Given the description of an element on the screen output the (x, y) to click on. 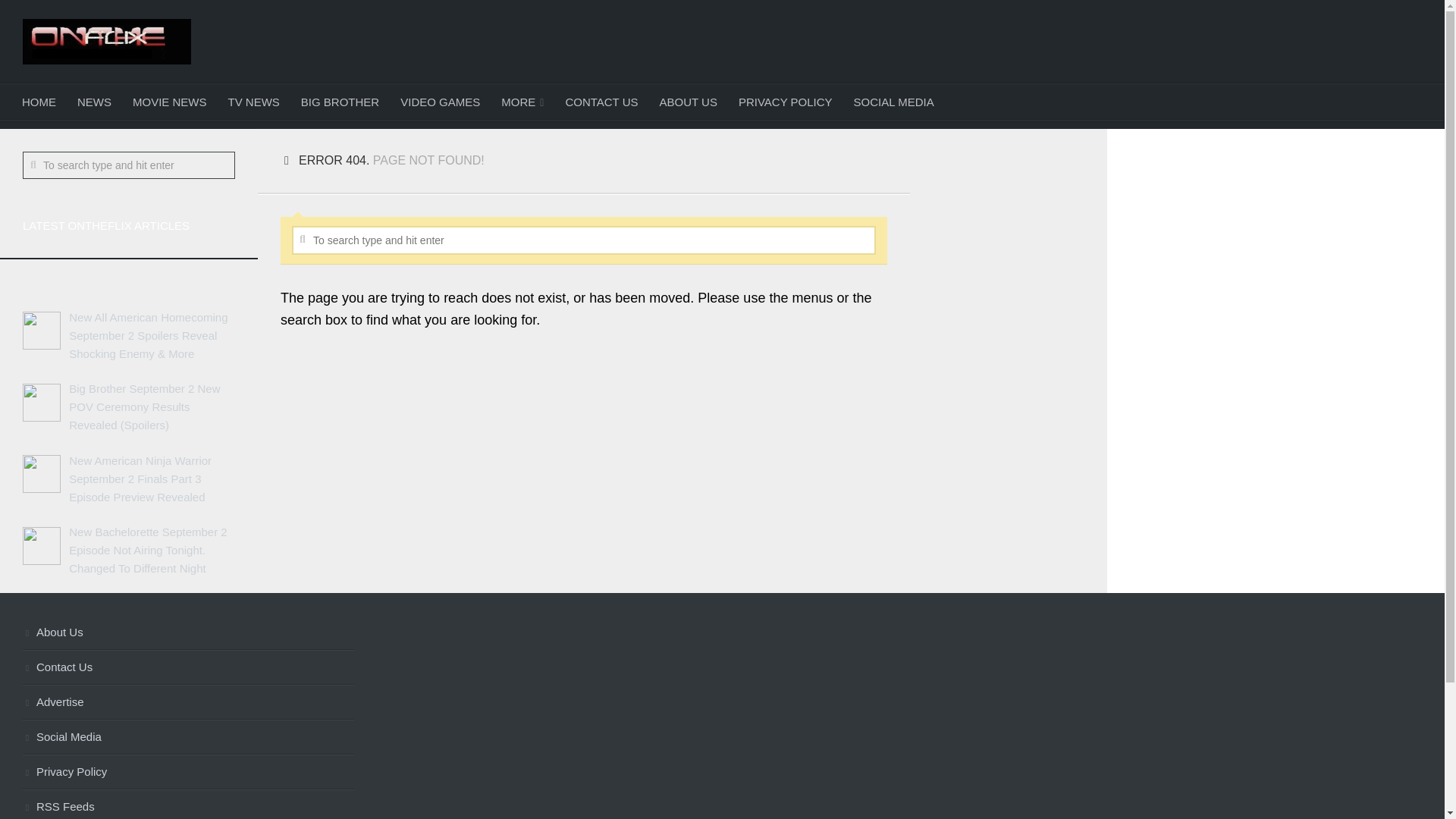
SOCIAL MEDIA (893, 102)
MOVIE NEWS (169, 102)
RSS Feeds (188, 804)
To search type and hit enter (584, 240)
CONTACT US (600, 102)
BIG BROTHER (339, 102)
Privacy Policy (188, 772)
About Us (188, 632)
MORE (522, 102)
